Given the description of an element on the screen output the (x, y) to click on. 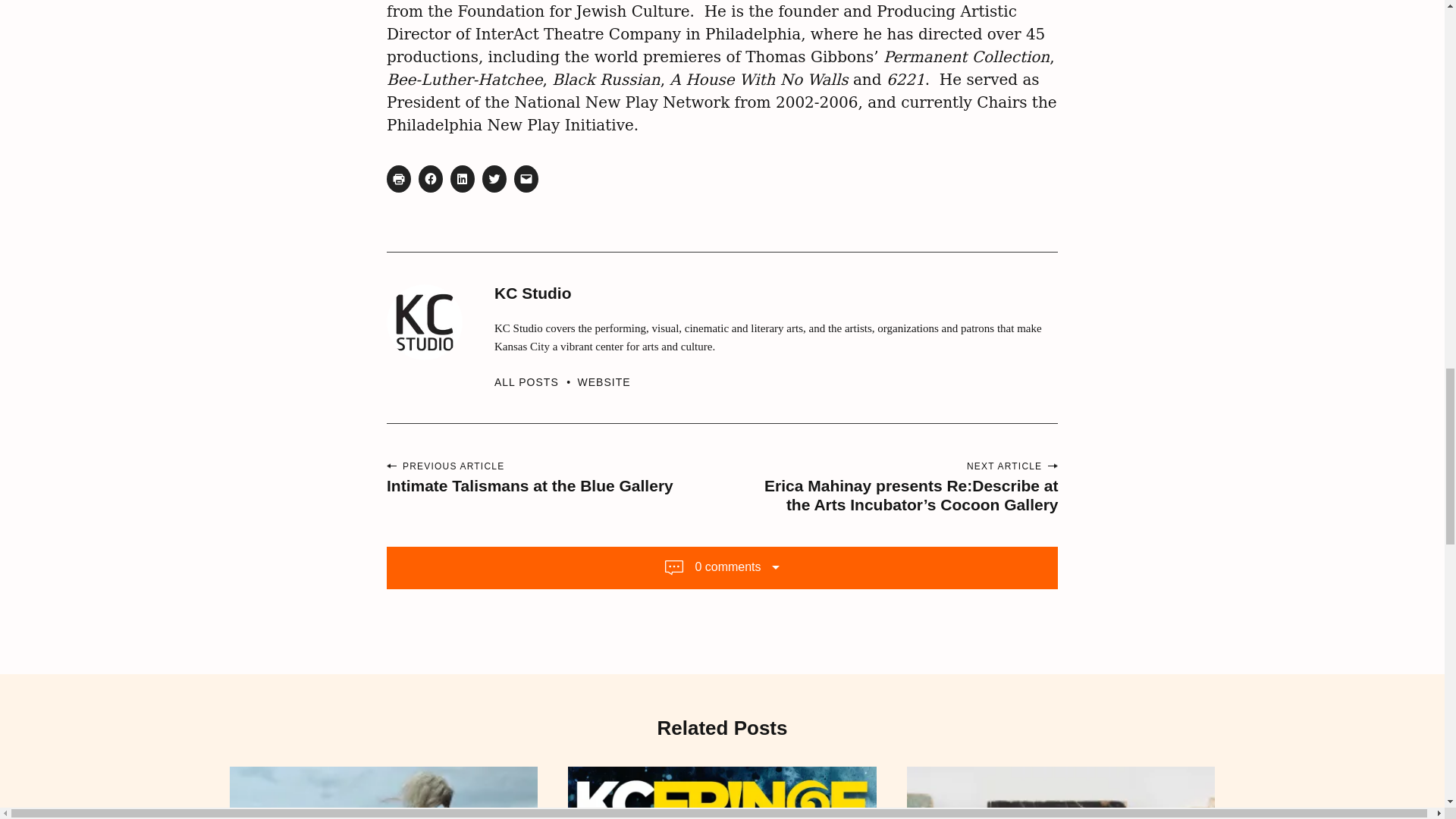
WEBSITE (604, 381)
View all posts by KC Studio (536, 381)
Click to share on Facebook (430, 178)
Click to email a link to a friend (525, 178)
ALL POSTS (536, 381)
Click to print (398, 178)
Click to share on Twitter (493, 178)
Click to share on LinkedIn (461, 178)
